Given the description of an element on the screen output the (x, y) to click on. 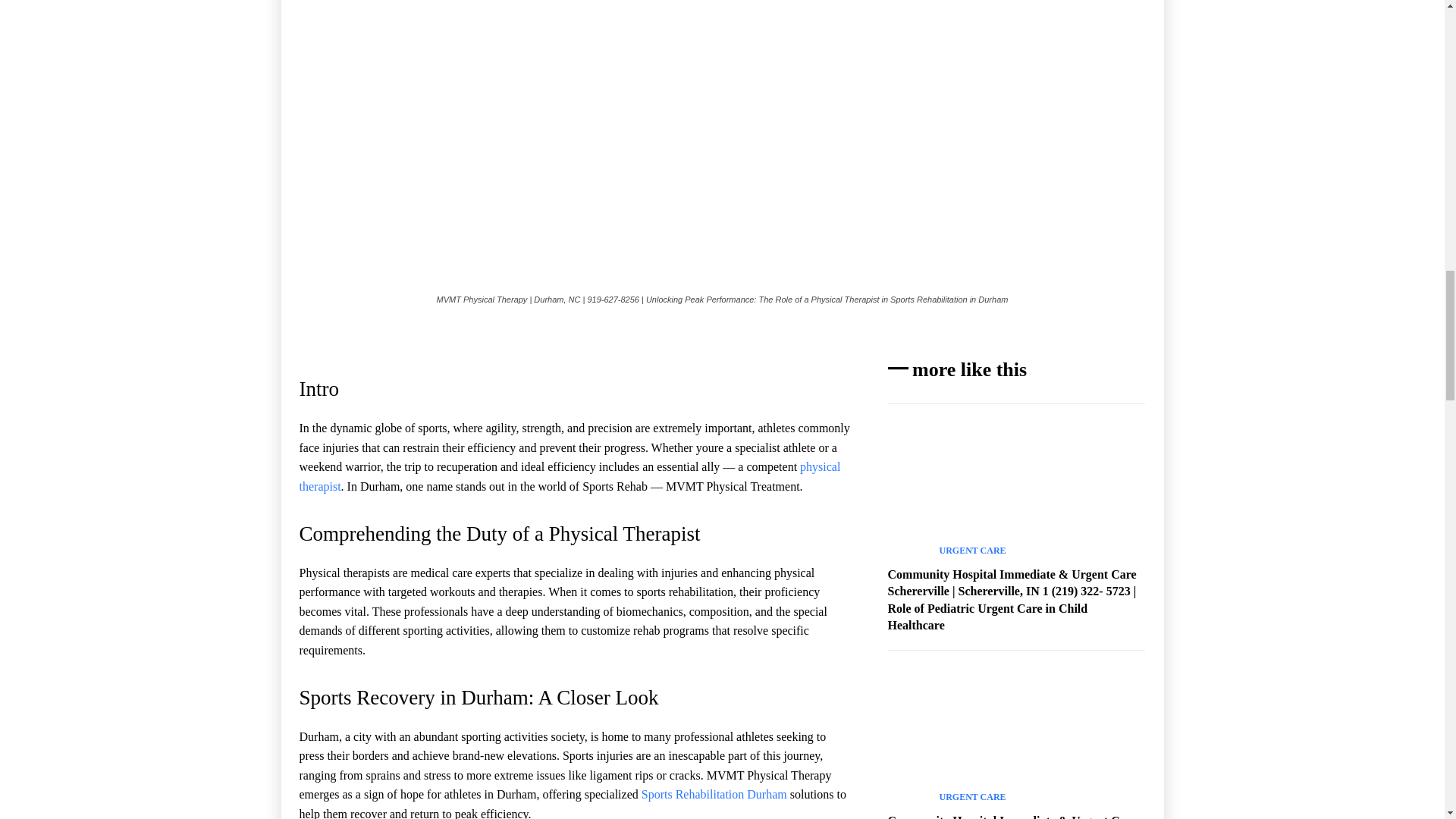
Sports Rehabilitation Durham (714, 793)
physical therapist (569, 476)
URGENT CARE (972, 796)
URGENT CARE (972, 550)
